Given the description of an element on the screen output the (x, y) to click on. 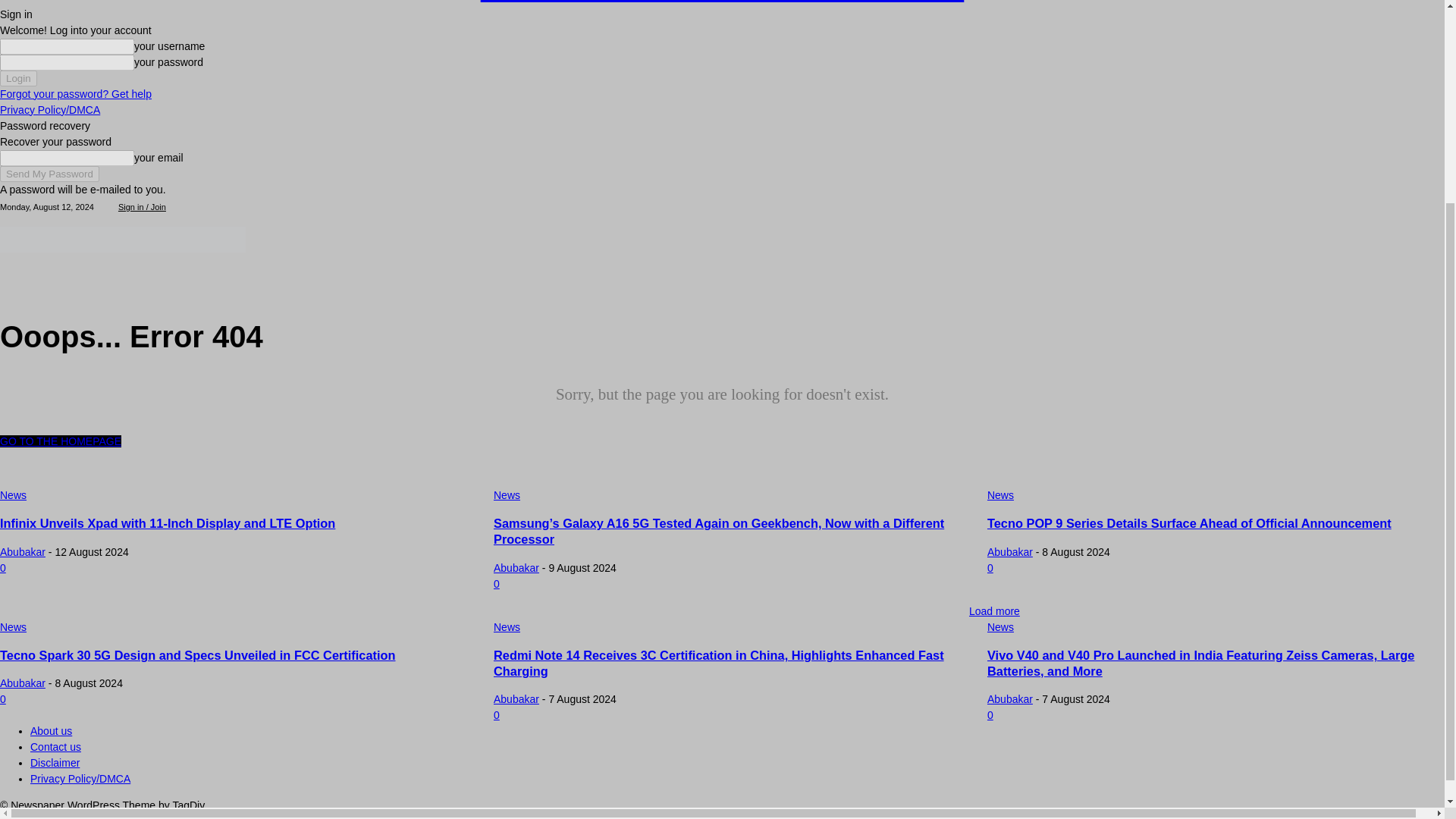
News (13, 495)
Infinix Unveils Xpad with 11-Inch Display and LTE Option (167, 522)
GO TO THE HOMEPAGE (60, 440)
Go to the homepage (60, 440)
Send My Password (49, 172)
Login (18, 77)
Forgot your password? Get help (75, 93)
